Given the description of an element on the screen output the (x, y) to click on. 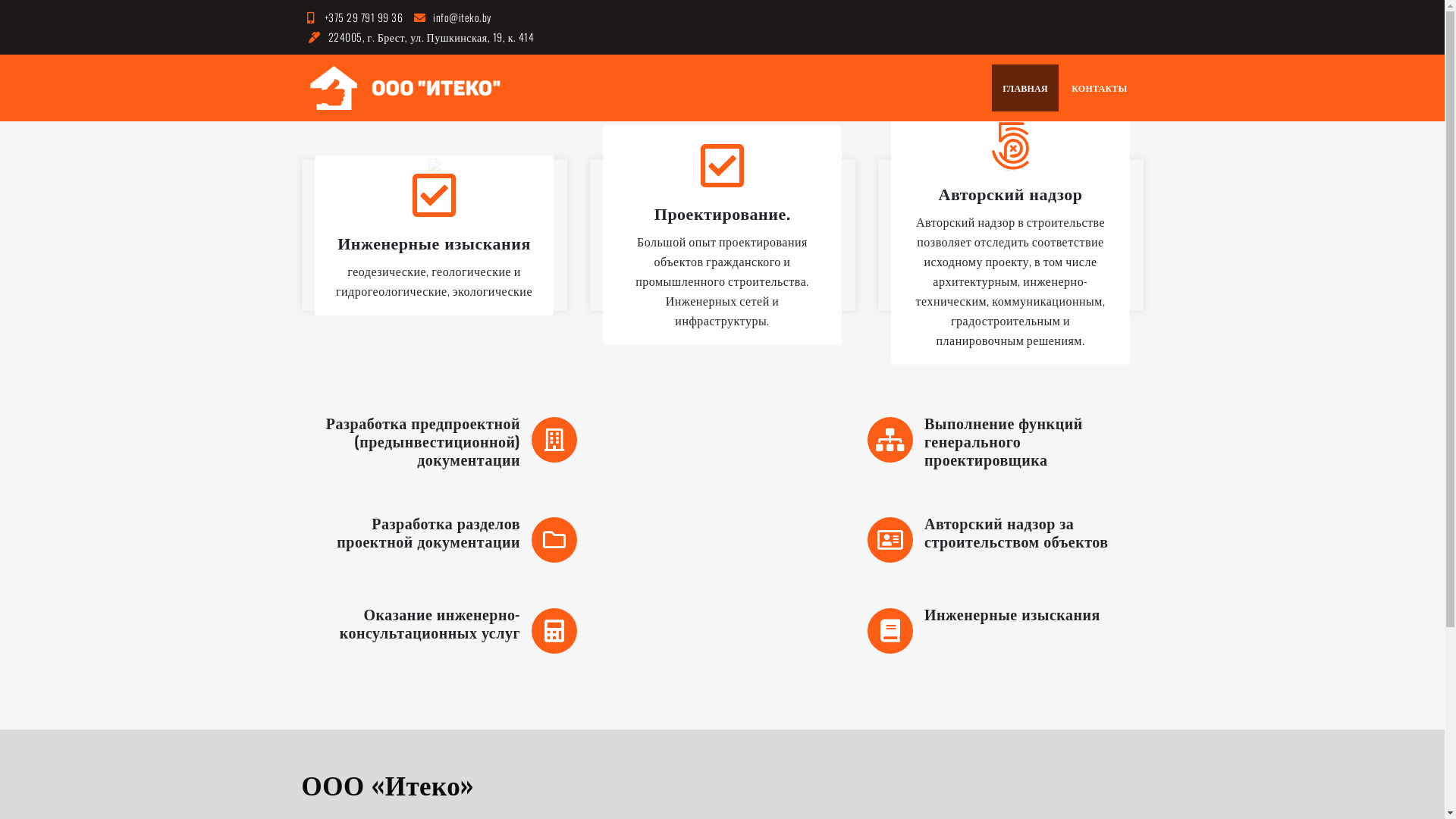
info@iteko.by Element type: text (450, 17)
+375 29 791 99 36 Element type: text (352, 17)
